Given the description of an element on the screen output the (x, y) to click on. 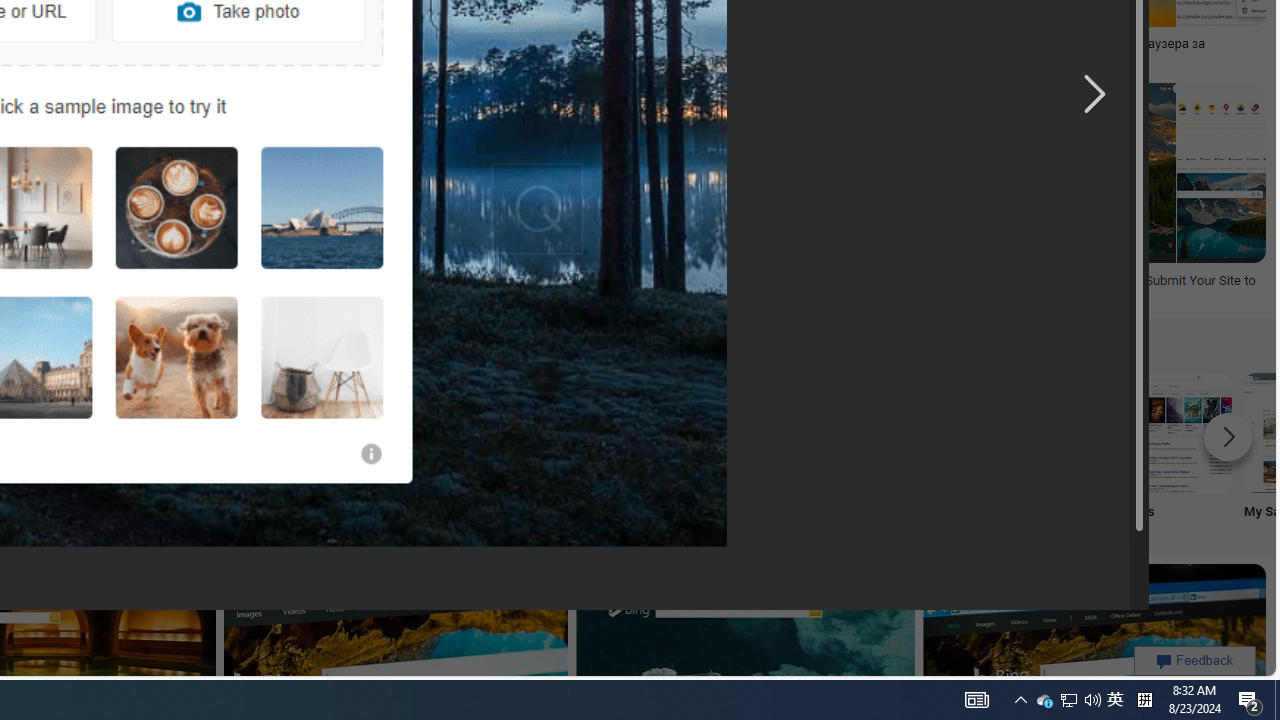
Bing Can Now Search for Any Object in an Image (689, 44)
Tricks (1039, 450)
Engine (248, 450)
Intelligent (643, 450)
New Bing Image Search New (775, 450)
Bar Install (380, 450)
Web Searching | Computer Applications for Managers (216, 287)
Bing Intelligent Search Intelligent (643, 450)
Top 10 Search engine | REALITYPOD - Part 3 (372, 44)
Bing Intelligent Search (643, 432)
Bing Search App (511, 432)
Bing Search App App (511, 450)
Web Searching | Computer Applications for Managers (216, 287)
